Given the description of an element on the screen output the (x, y) to click on. 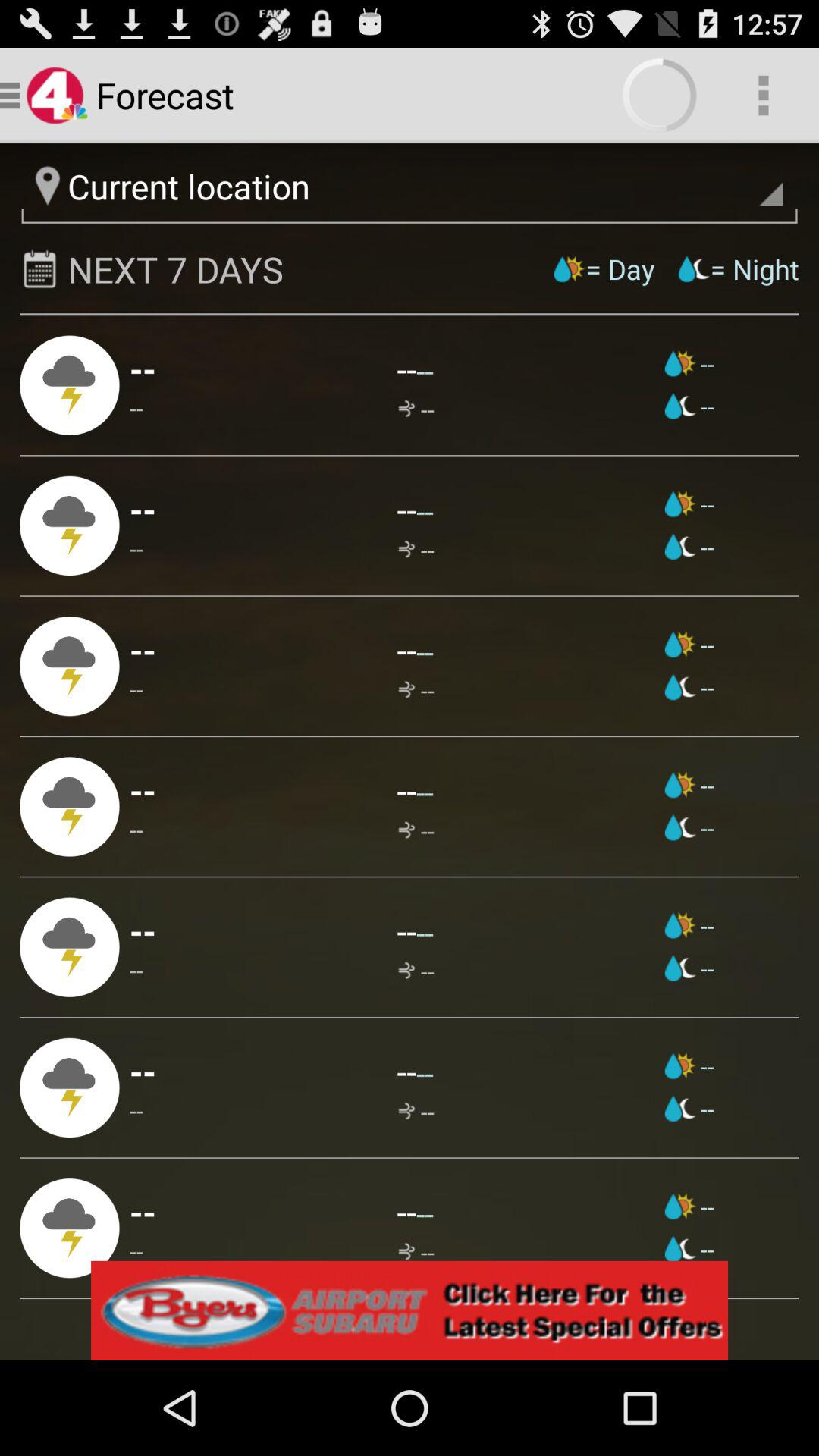
select the icon to the right of the -- app (406, 790)
